Given the description of an element on the screen output the (x, y) to click on. 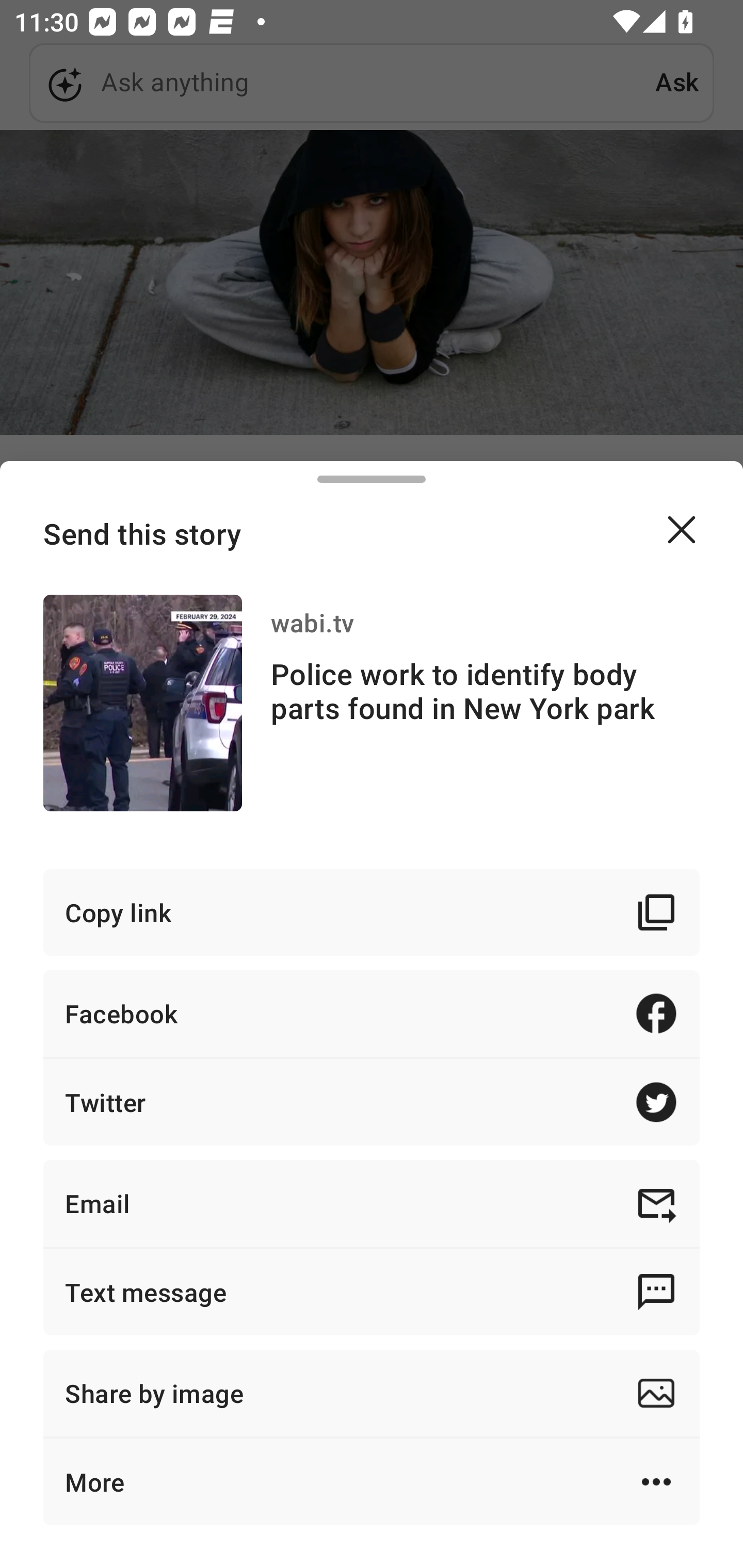
Copy link (371, 912)
Facebook (371, 1013)
Twitter (371, 1102)
Email (371, 1203)
Text message (371, 1291)
Share by image (371, 1393)
More (371, 1481)
